Given the description of an element on the screen output the (x, y) to click on. 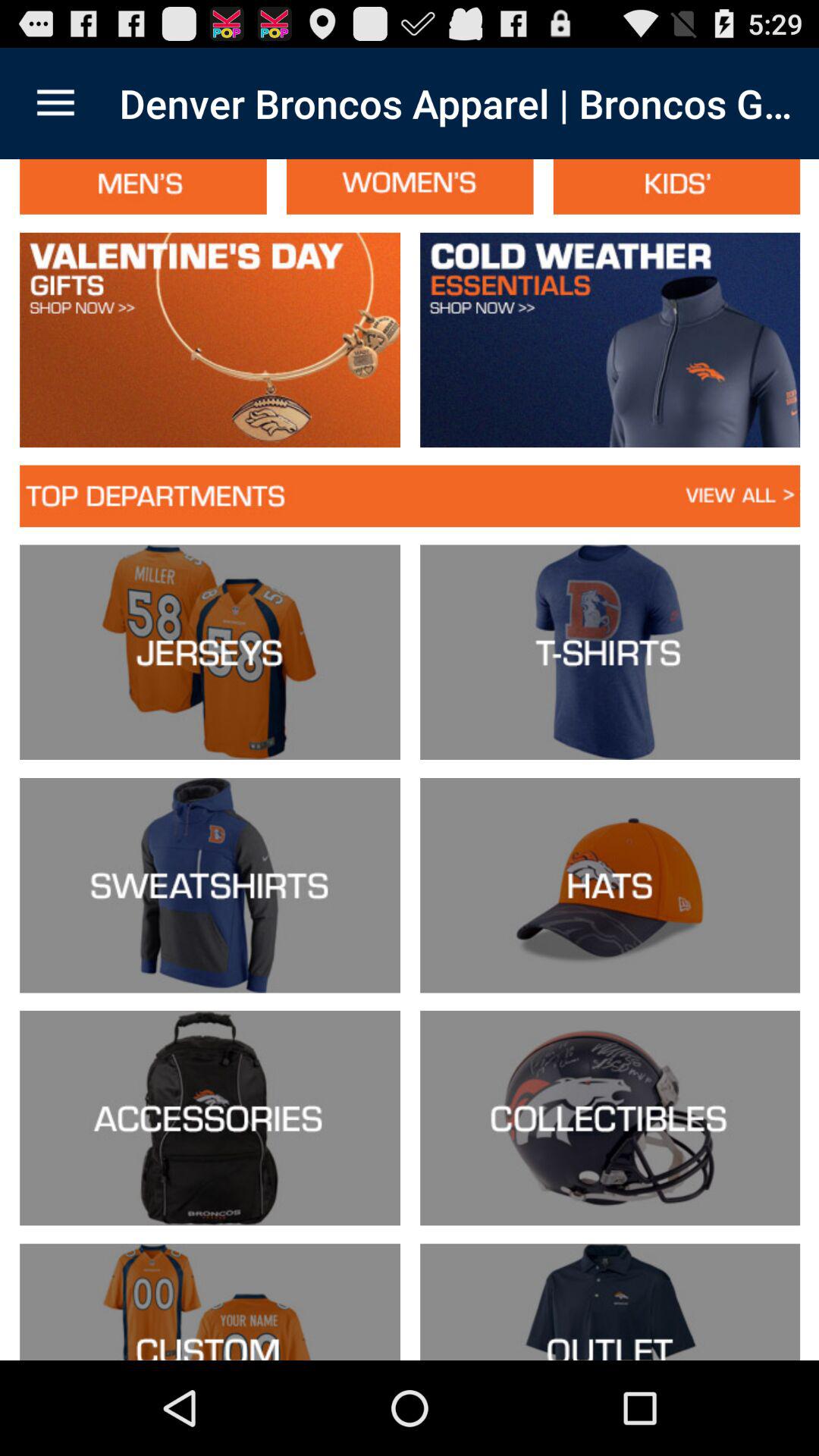
tap the app to the left of denver broncos apparel item (55, 103)
